Given the description of an element on the screen output the (x, y) to click on. 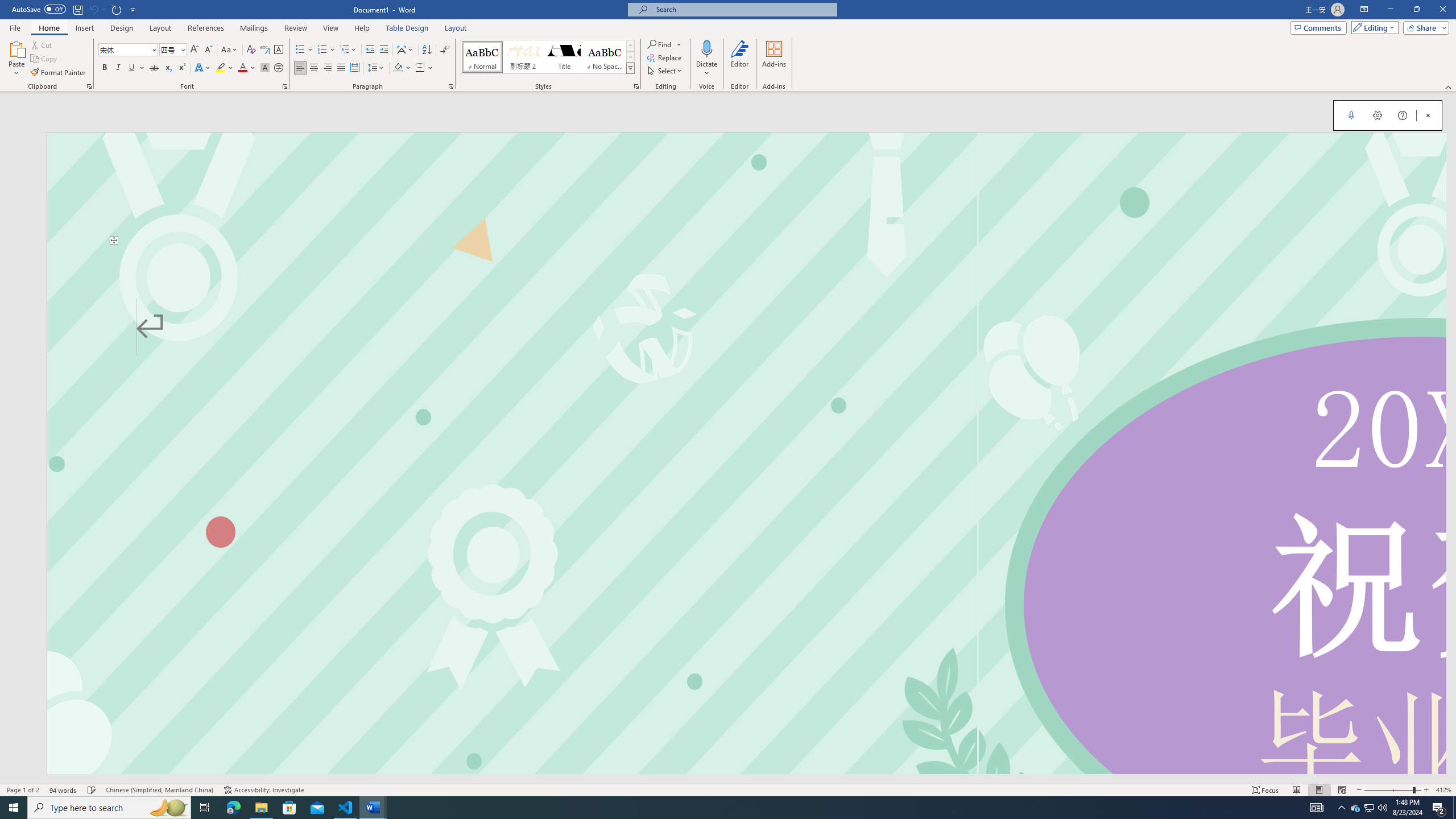
Text Effects and Typography (202, 67)
Repeat Start Office Dictation (117, 9)
Asian Layout (405, 49)
